Given the description of an element on the screen output the (x, y) to click on. 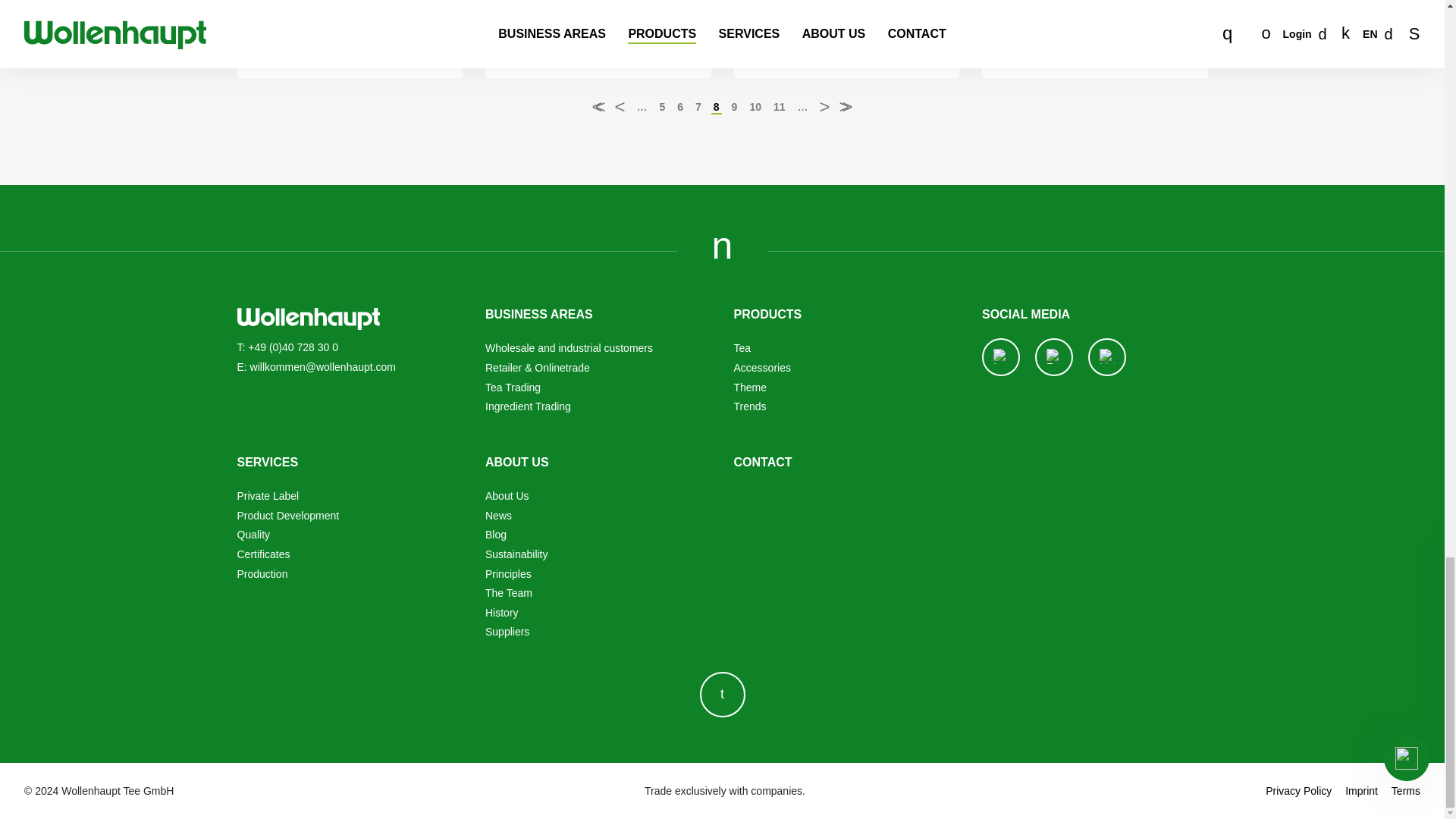
Instagram (1000, 356)
LinkedIn (1107, 356)
Facebook (1053, 356)
